Given the description of an element on the screen output the (x, y) to click on. 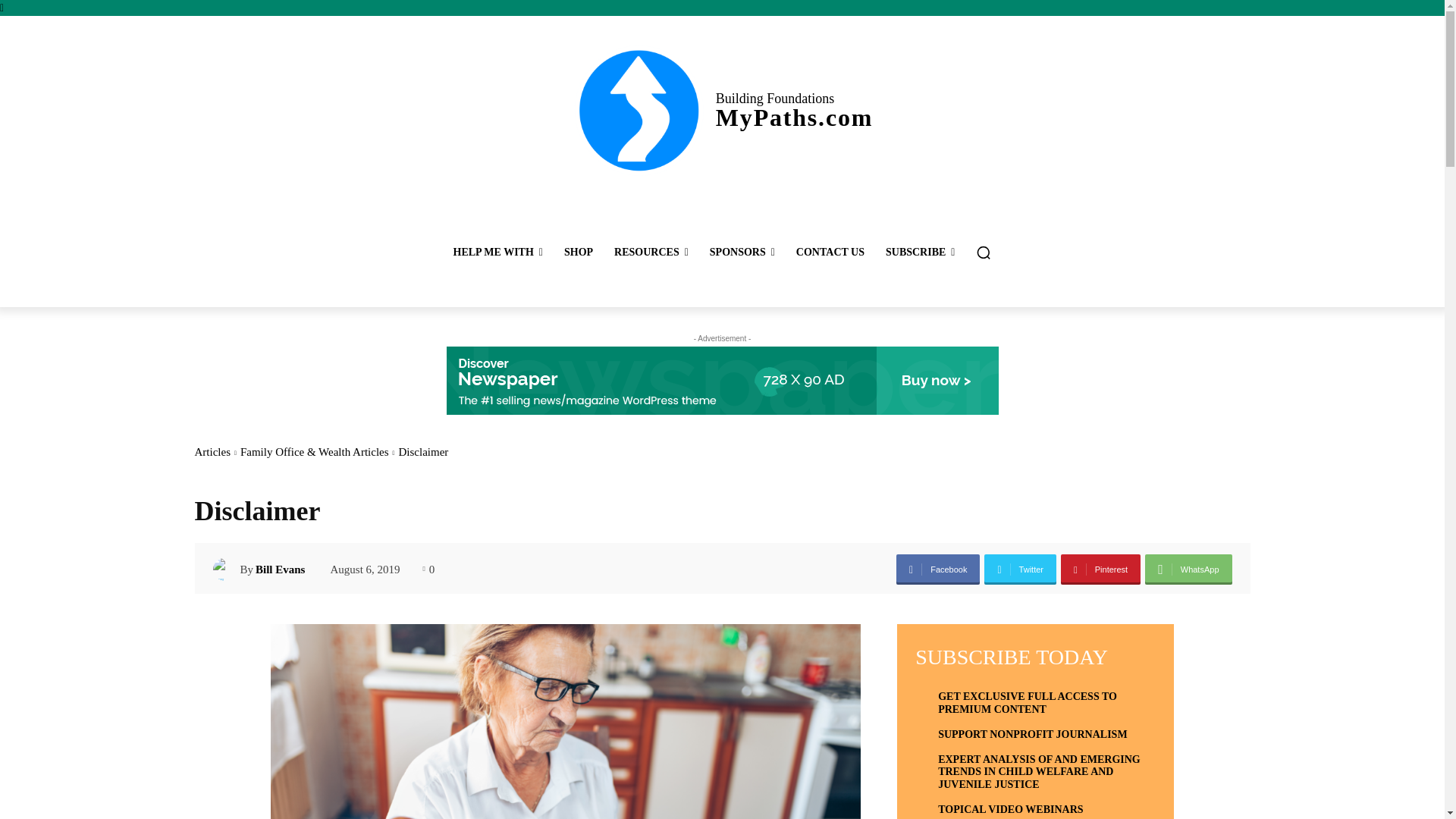
Bill Evans (226, 568)
HELP ME WITH (497, 252)
